Given the description of an element on the screen output the (x, y) to click on. 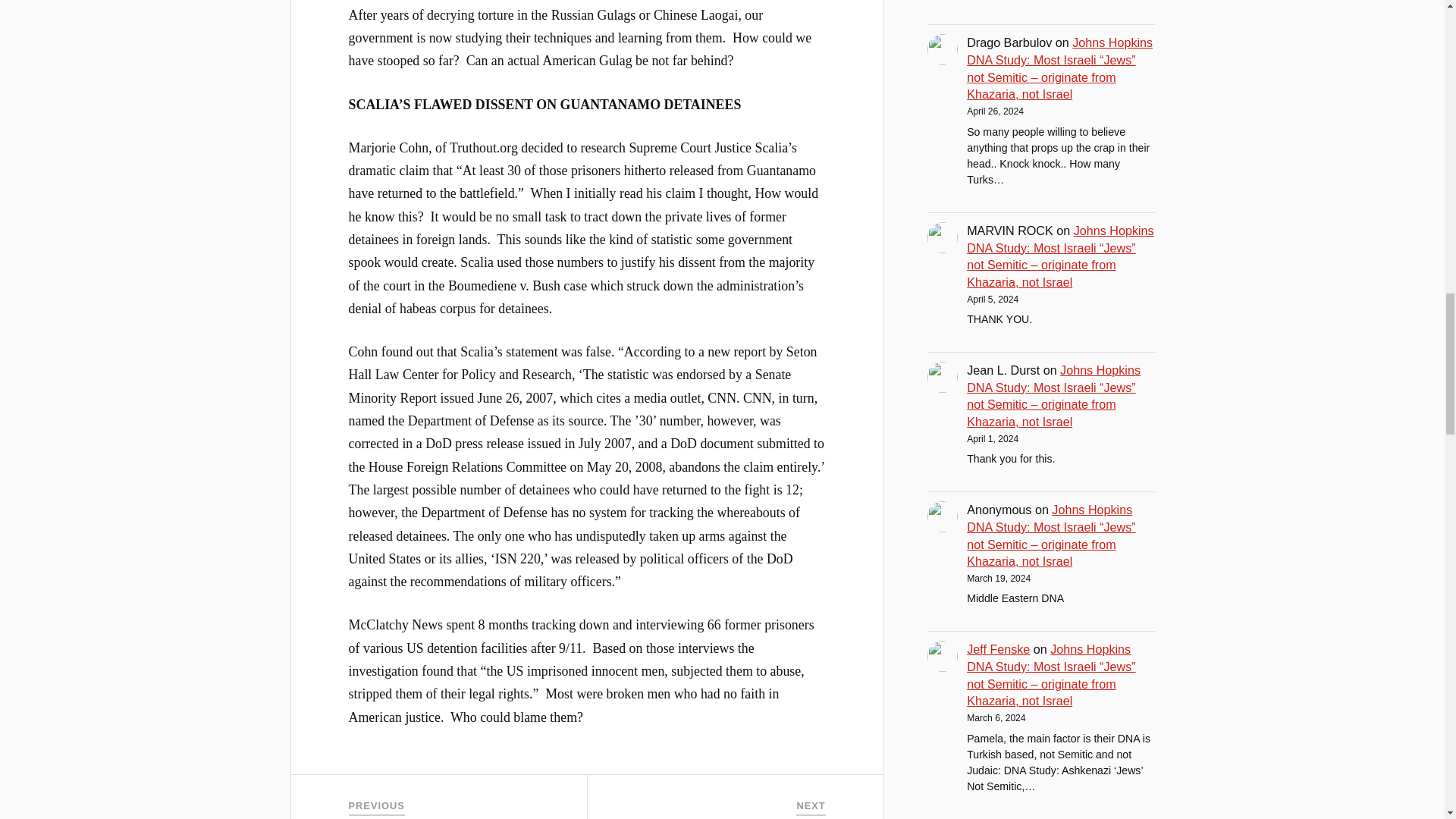
Jeff Fenske (997, 649)
